Given the description of an element on the screen output the (x, y) to click on. 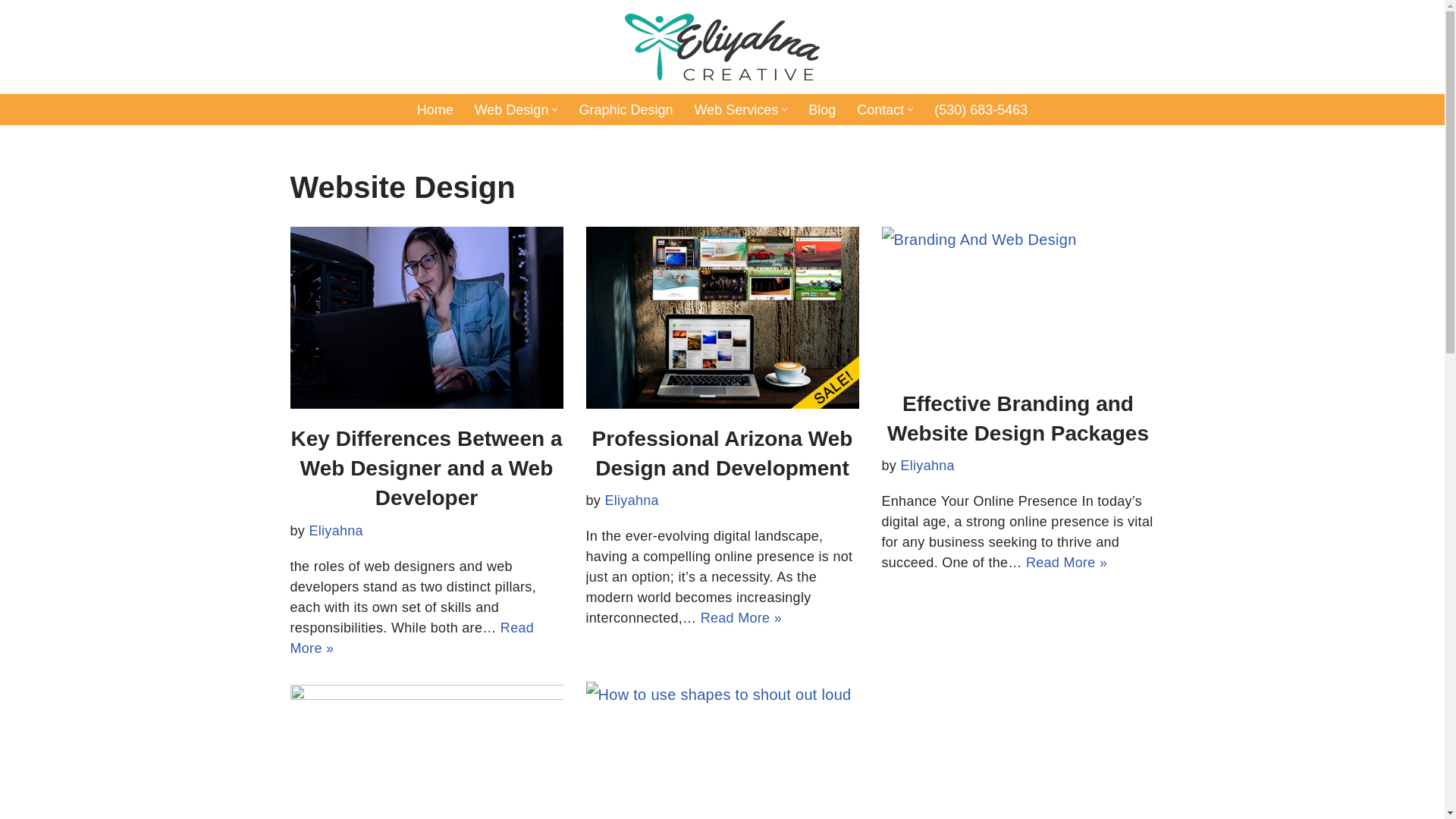
Effective Branding and Website Design Packages (1017, 299)
Skip to content (11, 31)
Key Differences Between a Web Designer and a Web Developer (425, 317)
Web Design (511, 108)
Professional Arizona Web Design and Development (722, 317)
Graphic Design (625, 108)
Web Services (735, 108)
How to use shapes to shout out loud (722, 750)
Contact (880, 108)
Blog (821, 108)
